Given the description of an element on the screen output the (x, y) to click on. 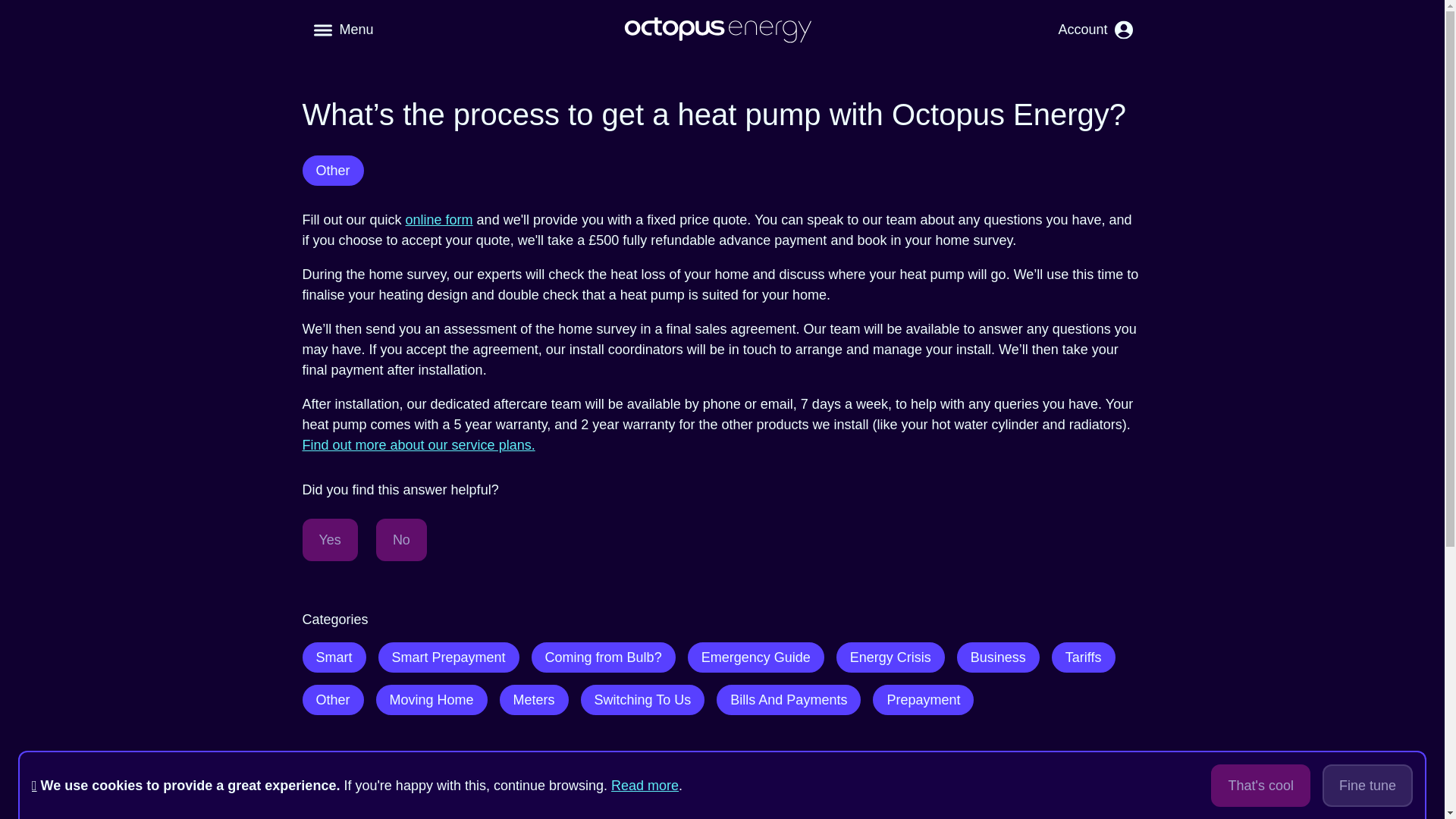
Smart Prepayment (448, 656)
Yes (328, 539)
Account (1095, 29)
No (400, 539)
Meters (534, 699)
Smart (333, 656)
Switching To Us (642, 699)
Bills And Payments (788, 699)
Other (331, 170)
Prepayment (923, 699)
Business (997, 656)
Emergency Guide (755, 656)
Coming from Bulb? (603, 656)
Tariffs (1083, 656)
online form (439, 219)
